Given the description of an element on the screen output the (x, y) to click on. 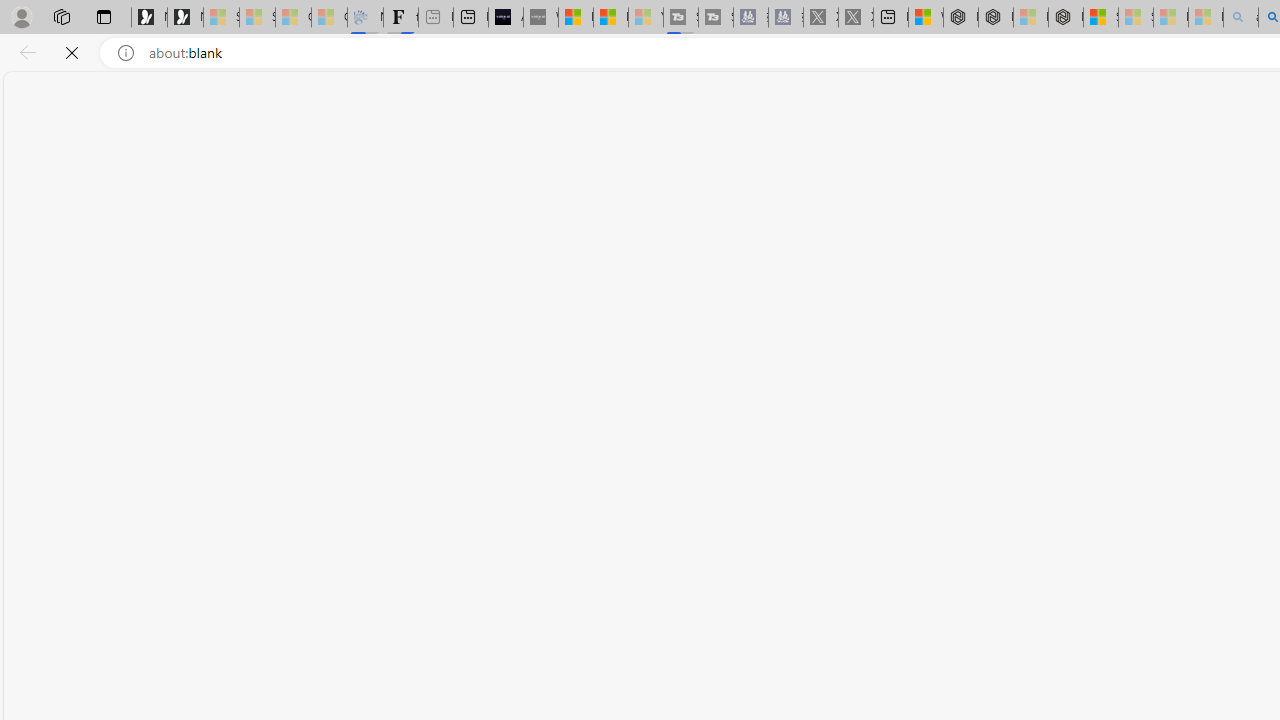
X - Sleeping (855, 17)
AI Voice Changer for PC and Mac - Voice.ai (506, 17)
What's the best AI voice generator? - voice.ai - Sleeping (540, 17)
Newsletter Sign Up (185, 17)
